Given the description of an element on the screen output the (x, y) to click on. 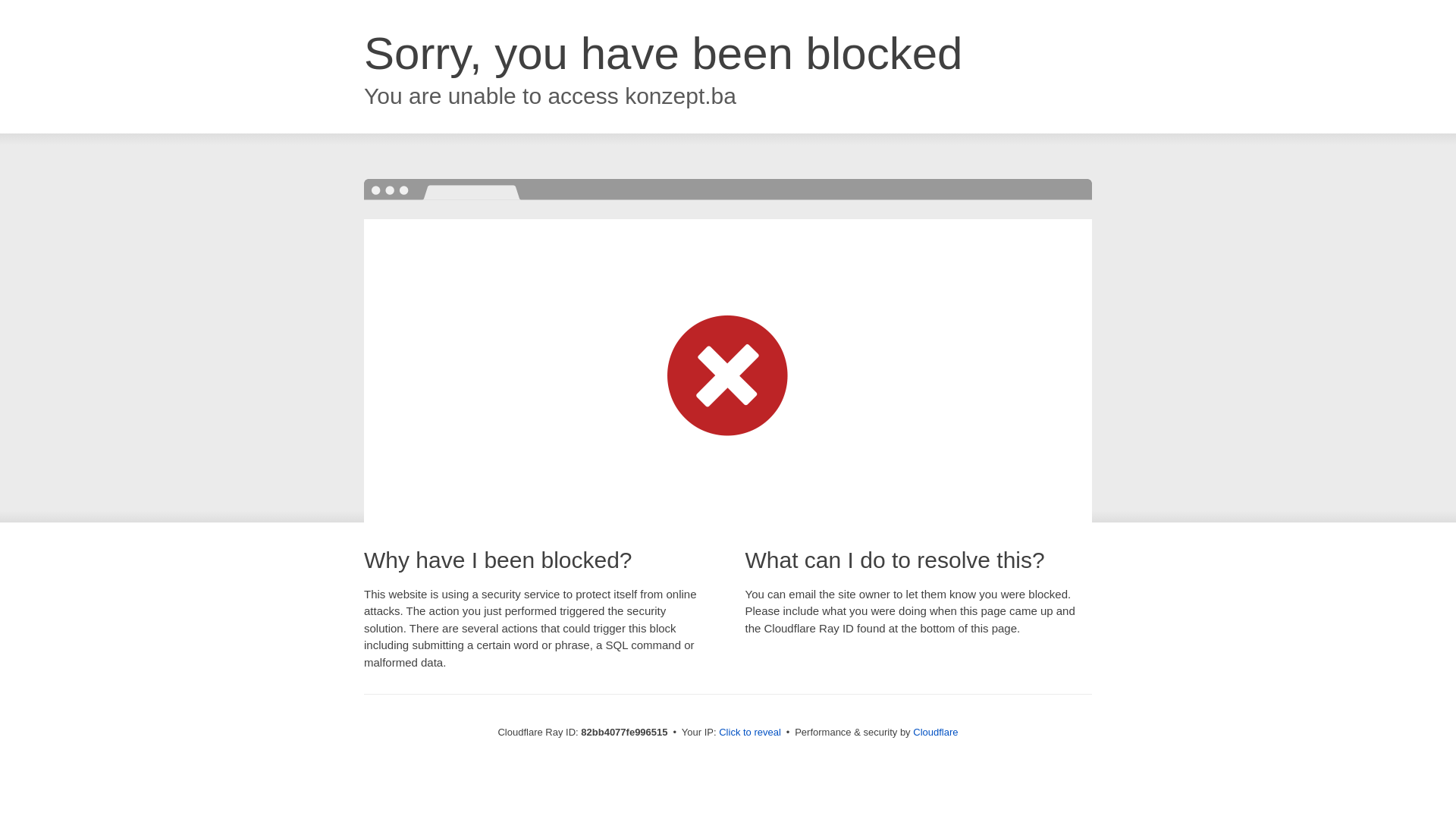
Click to reveal Element type: text (749, 732)
Cloudflare Element type: text (935, 731)
